Given the description of an element on the screen output the (x, y) to click on. 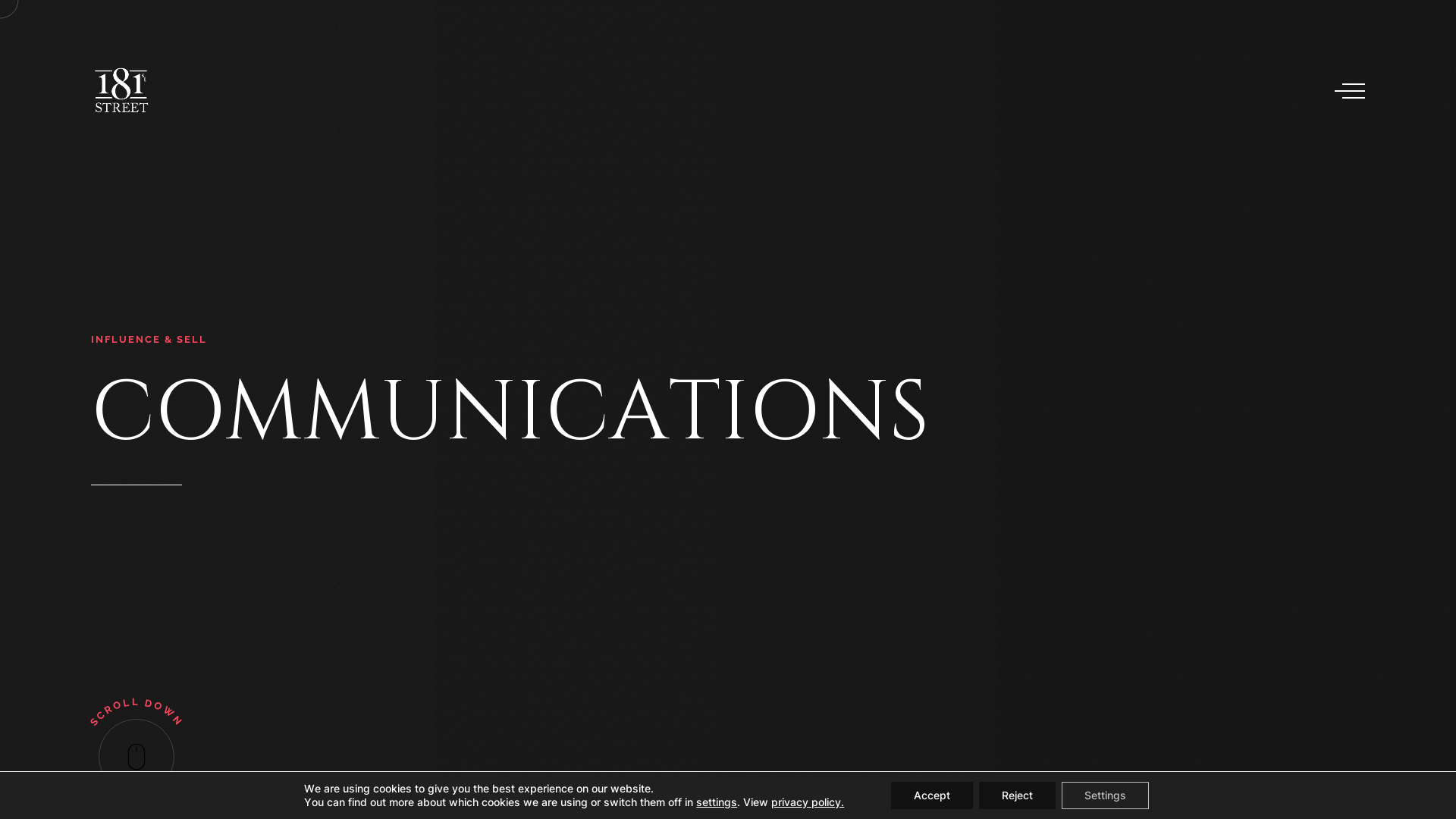
Settings Element type: text (1104, 795)
Reject Element type: text (1017, 795)
privacy policy. Element type: text (807, 801)
Accept Element type: text (931, 795)
settings Element type: text (716, 802)
